Given the description of an element on the screen output the (x, y) to click on. 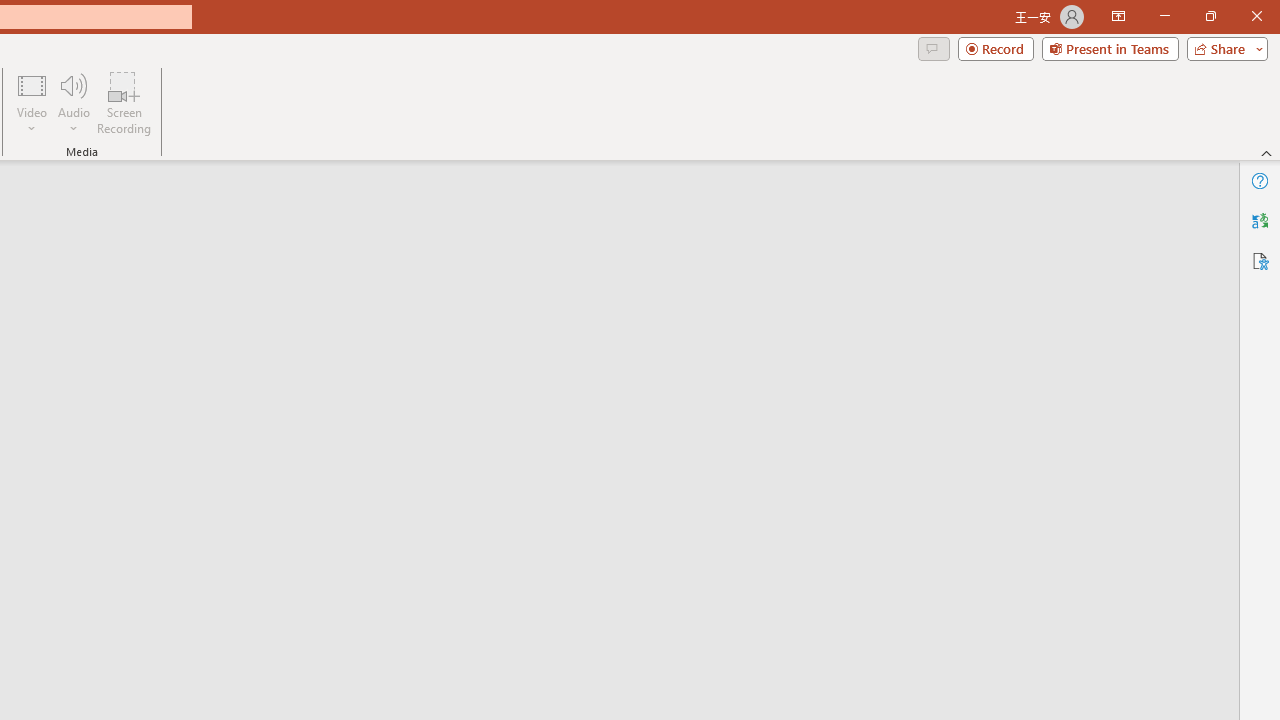
Video (31, 102)
Screen Recording... (123, 102)
